Given the description of an element on the screen output the (x, y) to click on. 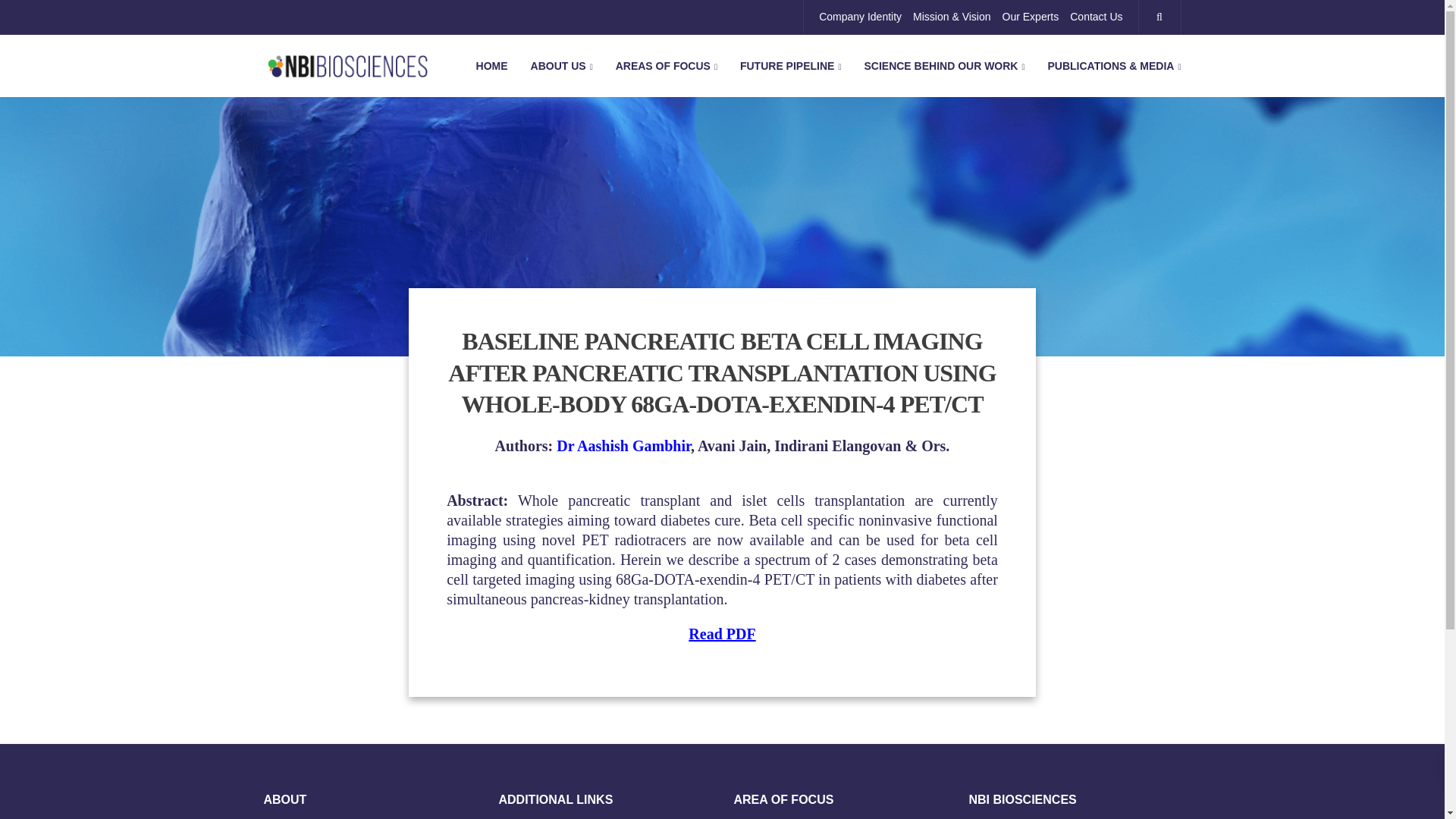
AREAS OF FOCUS (666, 65)
ABOUT US (561, 65)
Our Experts (1031, 16)
Contact Us (1096, 16)
HOME (491, 65)
SCIENCE BEHIND OUR WORK (943, 65)
Company Identity (859, 16)
FUTURE PIPELINE (791, 65)
About Us (561, 65)
Home (491, 65)
Areas of Focus (666, 65)
